Given the description of an element on the screen output the (x, y) to click on. 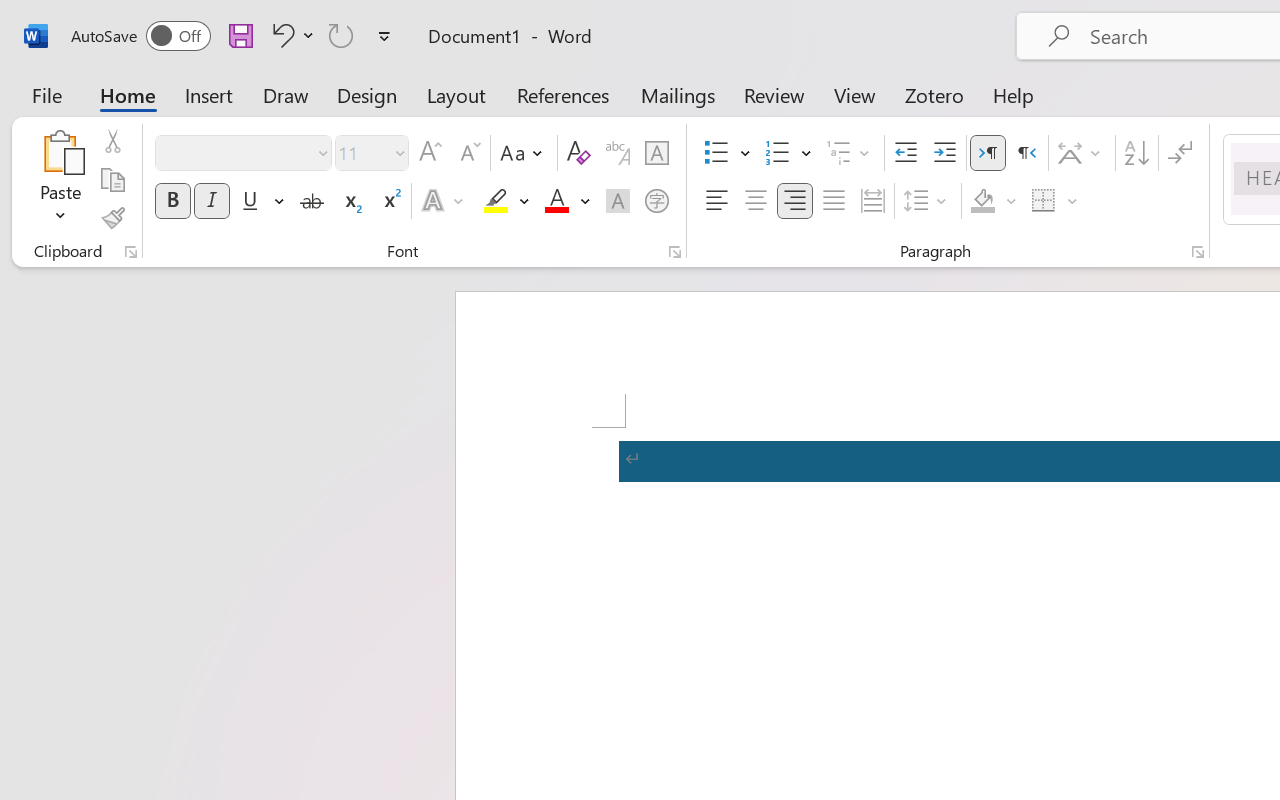
Right-to-Left (1026, 153)
